Given the description of an element on the screen output the (x, y) to click on. 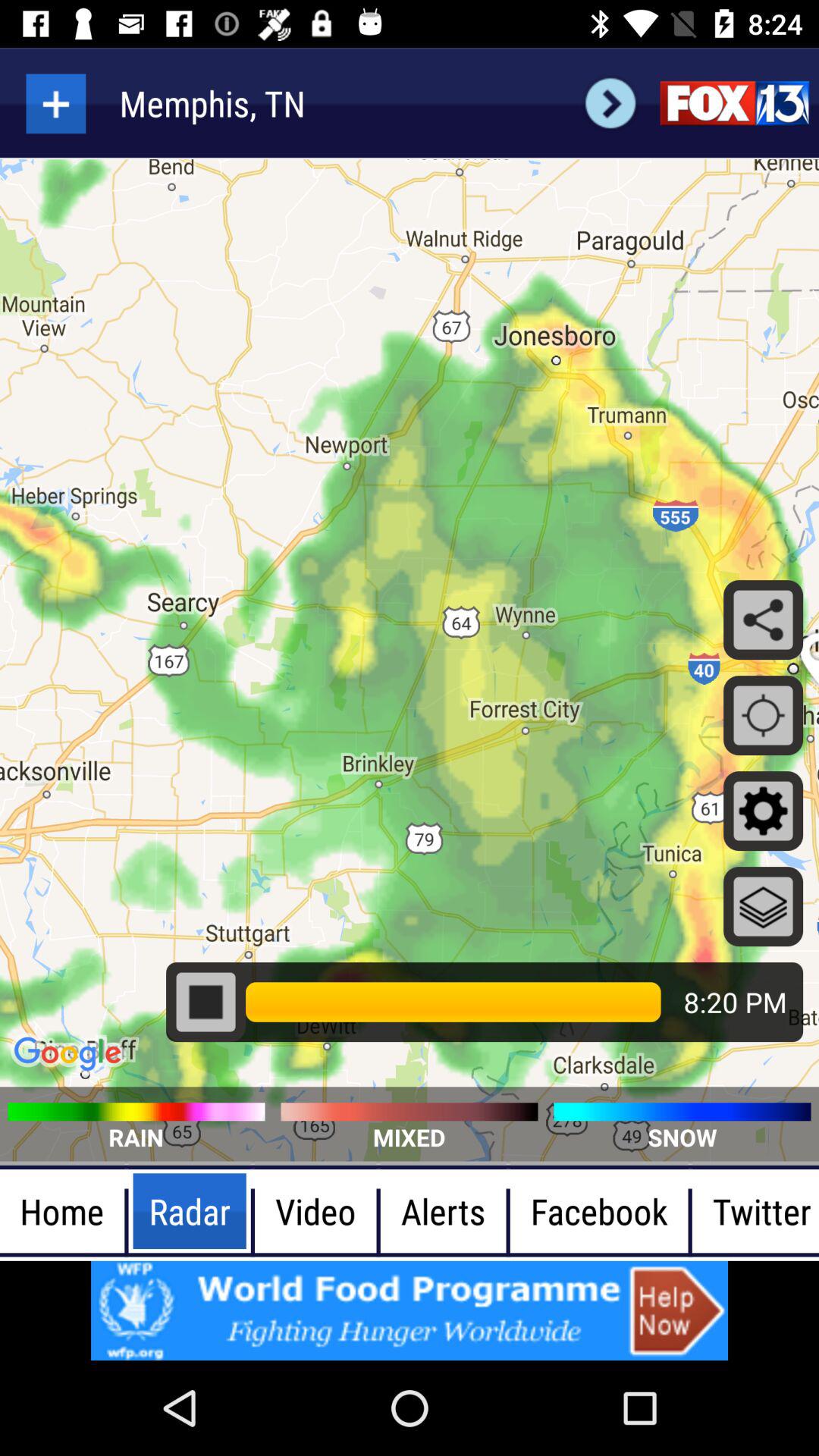
advertisement (409, 1310)
